Given the description of an element on the screen output the (x, y) to click on. 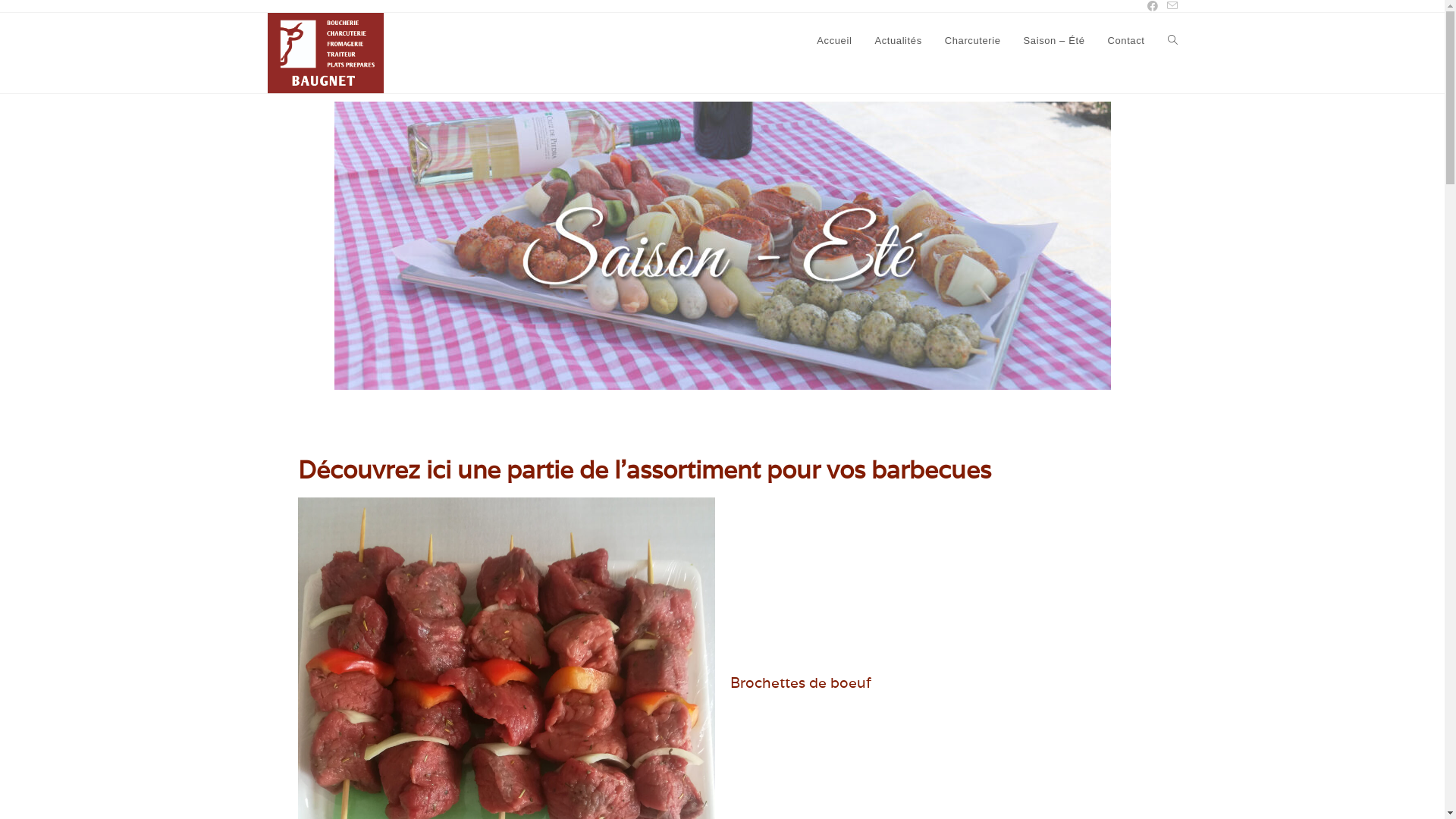
Charcuterie Element type: text (972, 40)
Contact Element type: text (1125, 40)
Accueil Element type: text (833, 40)
